Given the description of an element on the screen output the (x, y) to click on. 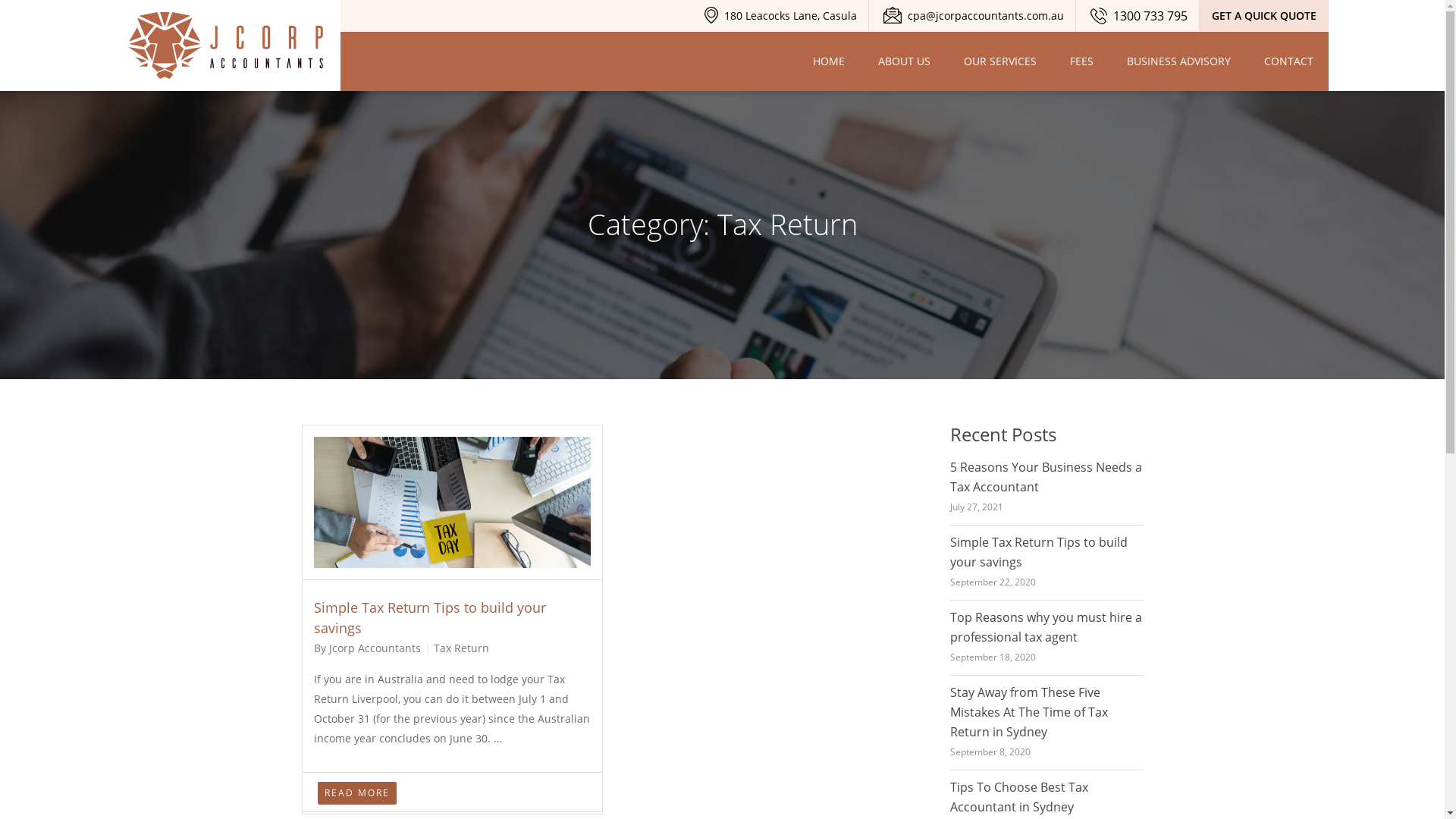
Simple Tax Return Tips to build your savings Element type: text (429, 617)
Top Reasons why you must hire a professional tax agent Element type: text (1045, 626)
HOME Element type: text (828, 61)
Simple Tax Return Tips to build your savings Element type: text (1037, 551)
cpa@jcorpaccountants.com.au Element type: text (973, 15)
Jcorp Accountants Element type: hover (226, 45)
BUSINESS ADVISORY Element type: text (1178, 61)
OUR SERVICES Element type: text (999, 61)
ABOUT US Element type: text (903, 61)
Tax Return Element type: text (461, 647)
Jcorp Accountants Element type: hover (226, 45)
1300 733 795 Element type: text (1138, 15)
READ MORE Element type: text (355, 792)
FEES Element type: text (1081, 61)
CONTACT Element type: text (1288, 61)
5 Reasons Your Business Needs a Tax Accountant Element type: text (1045, 476)
GET A QUICK QUOTE Element type: text (1263, 15)
Tips To Choose Best Tax Accountant in Sydney Element type: text (1018, 796)
